Given the description of an element on the screen output the (x, y) to click on. 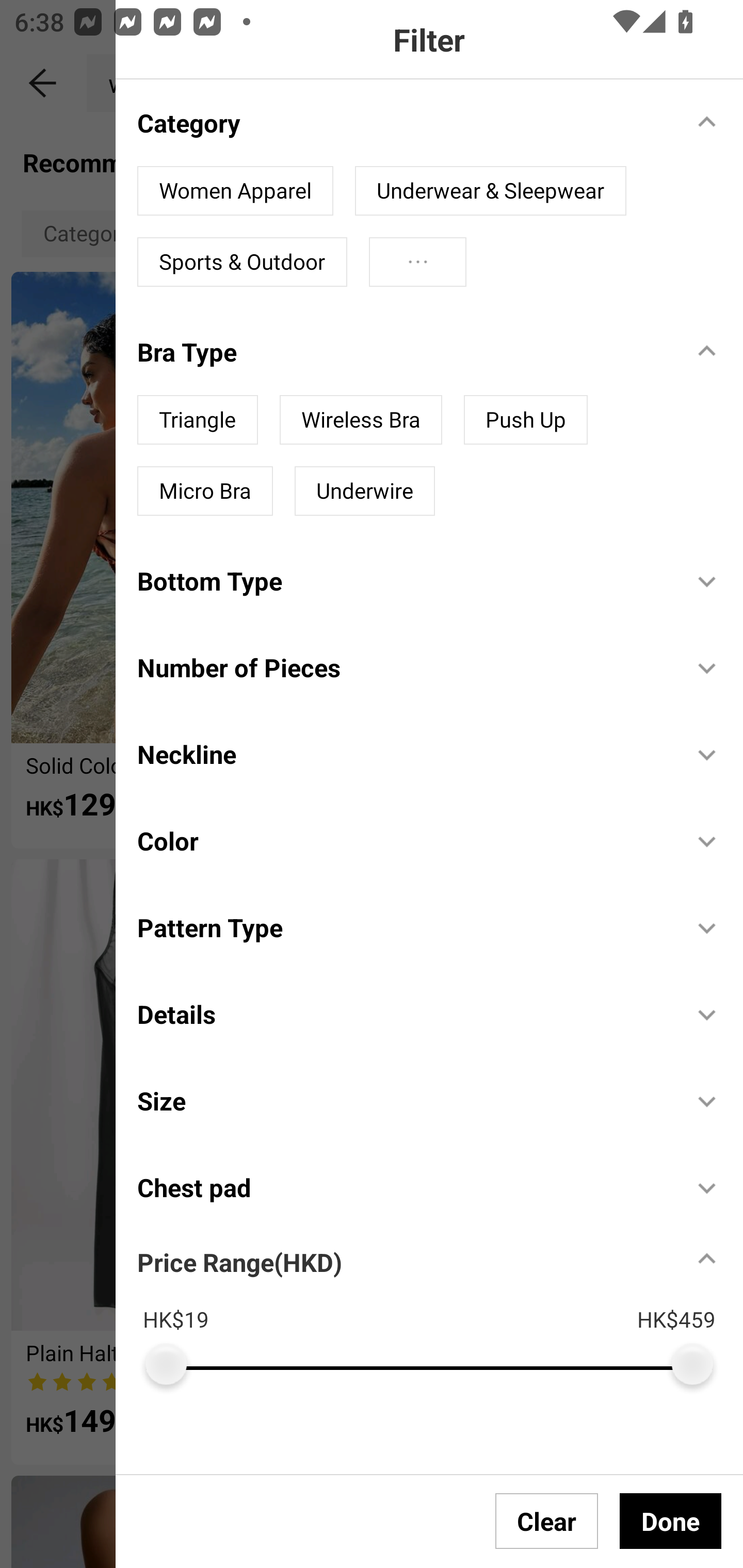
Category (403, 122)
Women Apparel (235, 191)
Underwear & Sleepwear (490, 191)
Sports & Outdoor (241, 261)
Bra Type (403, 351)
Triangle (197, 420)
Wireless Bra (360, 420)
Push Up (525, 420)
Micro Bra (204, 490)
Underwire (364, 490)
Bottom Type (403, 580)
Number of Pieces (403, 667)
Neckline (403, 754)
Color (403, 840)
Pattern Type (403, 927)
Details (403, 1014)
Size (403, 1100)
Chest pad (403, 1186)
Price Range(HKD) HK$19 HK$459 (440, 1307)
Price Range(HKD) (239, 1261)
Clear (546, 1520)
Done (670, 1520)
